Given the description of an element on the screen output the (x, y) to click on. 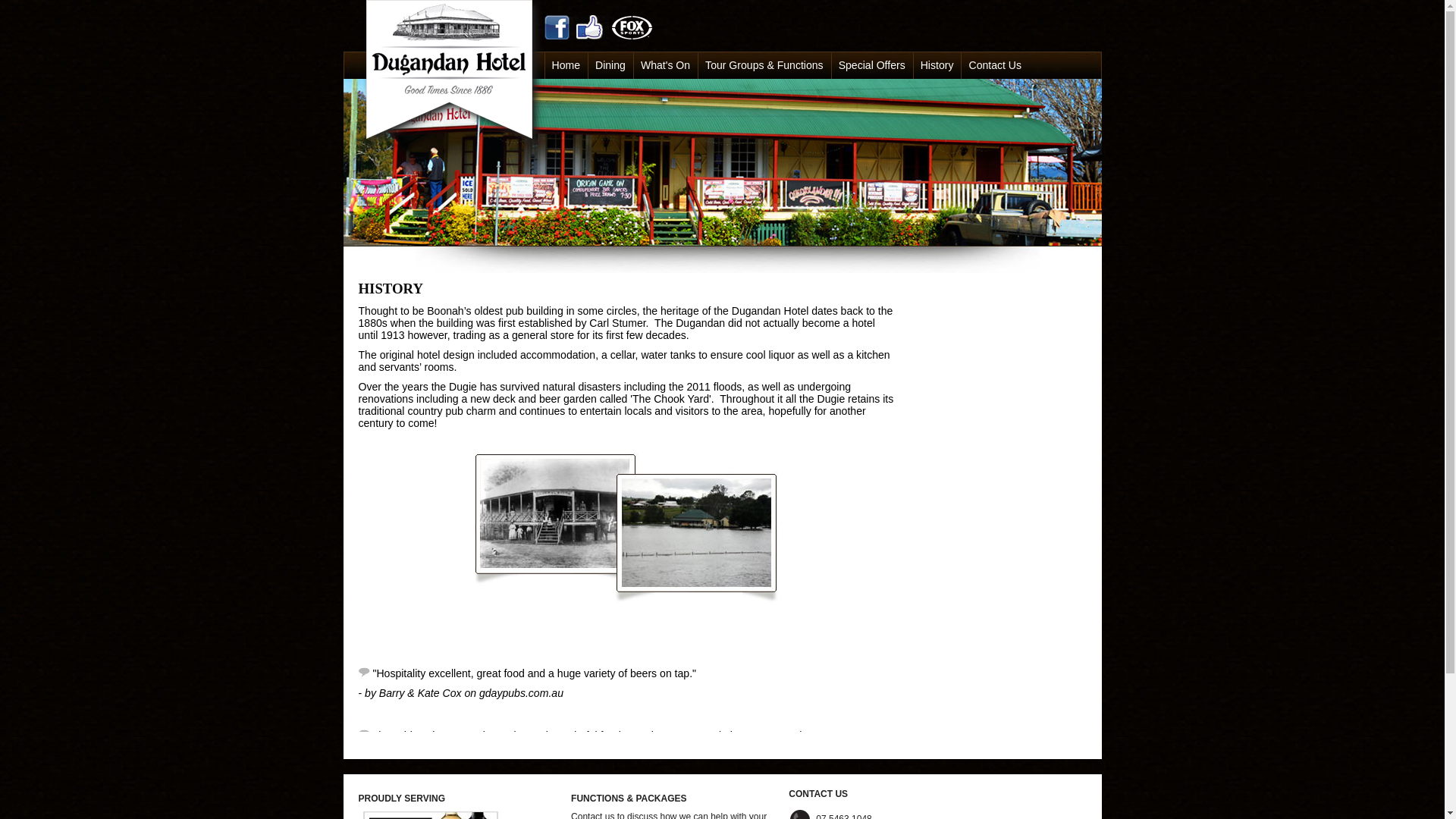
Special Offers Element type: text (872, 64)
What's On Element type: text (665, 64)
Dining Element type: text (610, 64)
History Element type: text (937, 64)
Tour Groups & Functions Element type: text (764, 64)
Home Element type: text (566, 64)
Contact Us Element type: text (994, 64)
